Given the description of an element on the screen output the (x, y) to click on. 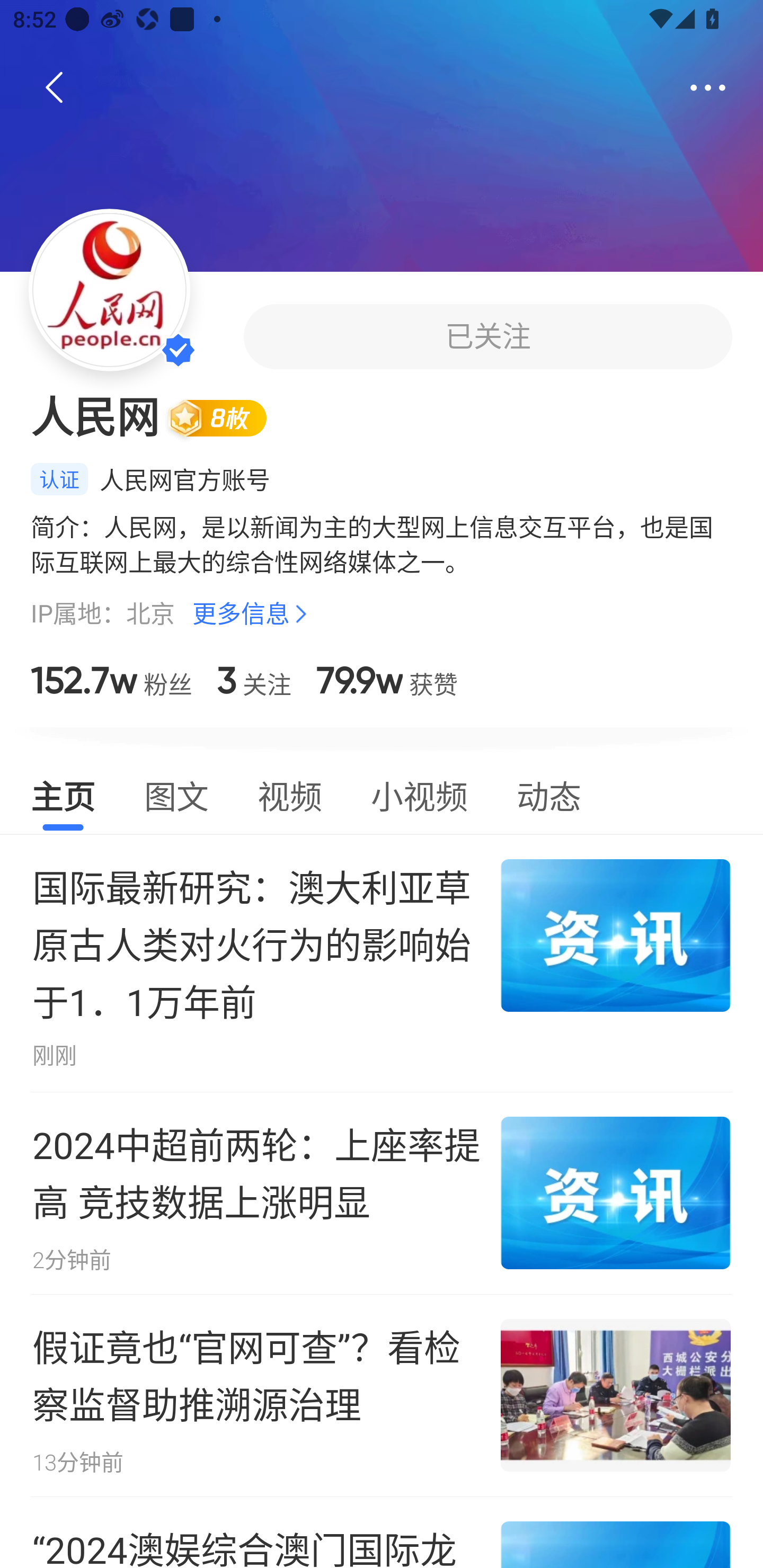
 返回 (54, 87)
 更多 (707, 87)
已关注 (487, 336)
8枚 (224, 417)
认证 (58, 478)
简介：人民网，是以新闻为主的大型网上信息交互平台，也是国际互联网上最大的综合性网络媒体之一。 (381, 543)
152.7w 粉丝 (111, 680)
3 关注 (253, 680)
79.9w 获赞 (386, 680)
主页 (62, 793)
图文 (176, 793)
视频 (289, 793)
小视频 (419, 793)
动态 (548, 793)
国际最新研究：澳大利亚草原古人类对火行为的影响始于1．1万年前 刚刚 (381, 962)
2024中超前两轮：上座率提高 竞技数据上涨明显 2分钟前 (381, 1192)
假证竟也“官网可查”？看检察监督助推溯源治理 13分钟前 (381, 1395)
